Given the description of an element on the screen output the (x, y) to click on. 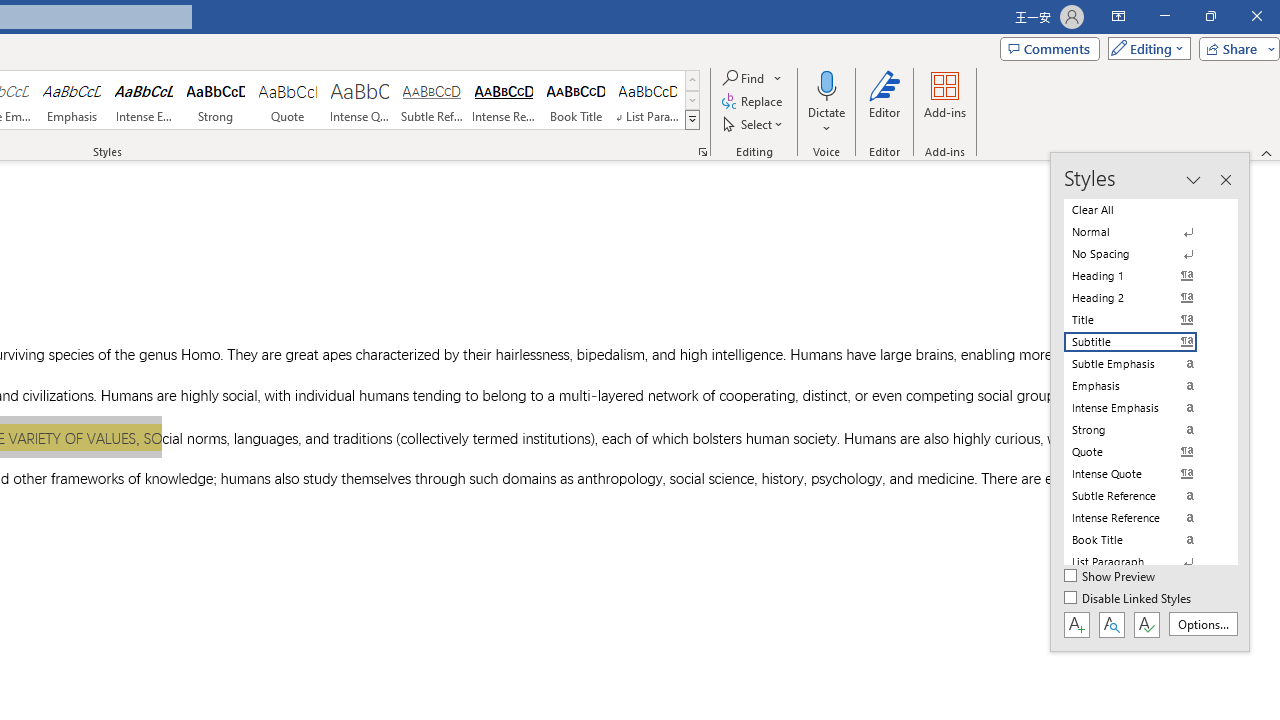
More Options (826, 121)
Close pane (1225, 179)
Heading 1 (1142, 275)
Title (1142, 319)
Class: NetUIButton (1146, 624)
Replace... (753, 101)
Styles (692, 120)
Dictate (826, 102)
Minimize (1164, 16)
Book Title (575, 100)
Intense Quote (359, 100)
Intense Reference (504, 100)
Heading 2 (1142, 297)
No Spacing (1142, 253)
